Given the description of an element on the screen output the (x, y) to click on. 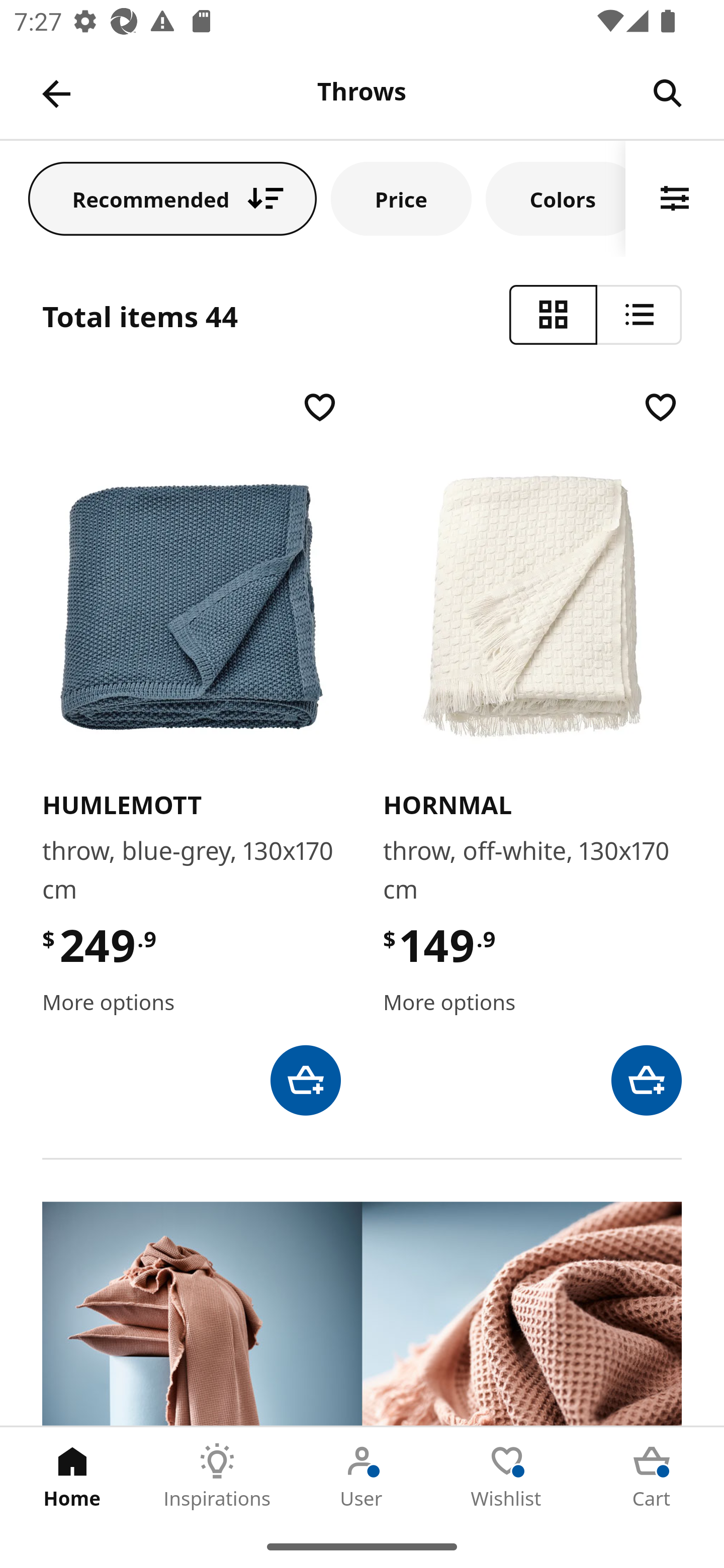
Recommended (172, 198)
Price (400, 198)
Colors (555, 198)
Home
Tab 1 of 5 (72, 1476)
Inspirations
Tab 2 of 5 (216, 1476)
User
Tab 3 of 5 (361, 1476)
Wishlist
Tab 4 of 5 (506, 1476)
Cart
Tab 5 of 5 (651, 1476)
